Given the description of an element on the screen output the (x, y) to click on. 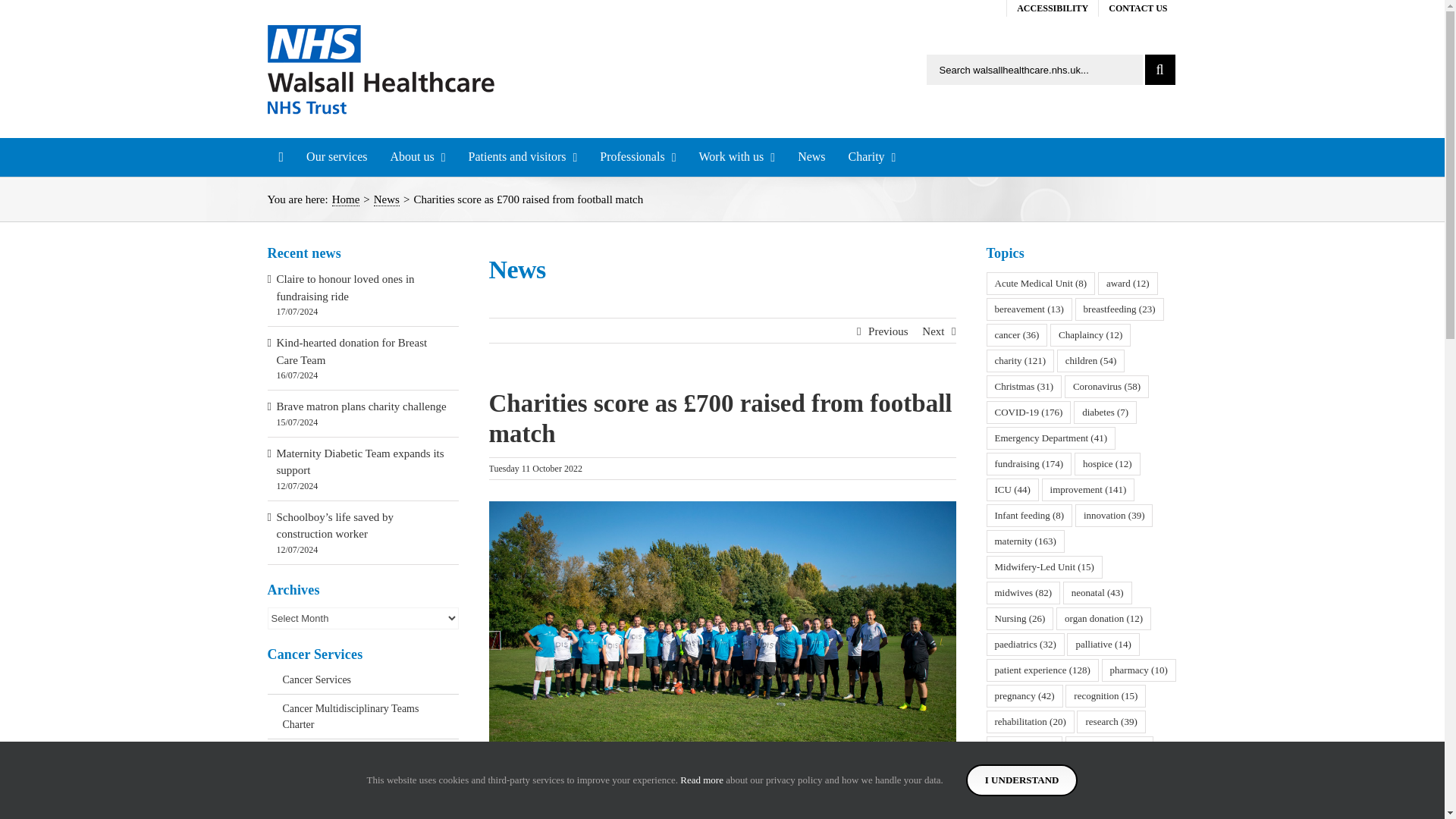
Patients and visitors (523, 157)
CONTACT US (1137, 8)
About us (417, 157)
ACCESSIBILITY (1052, 8)
Our services (336, 157)
